Given the description of an element on the screen output the (x, y) to click on. 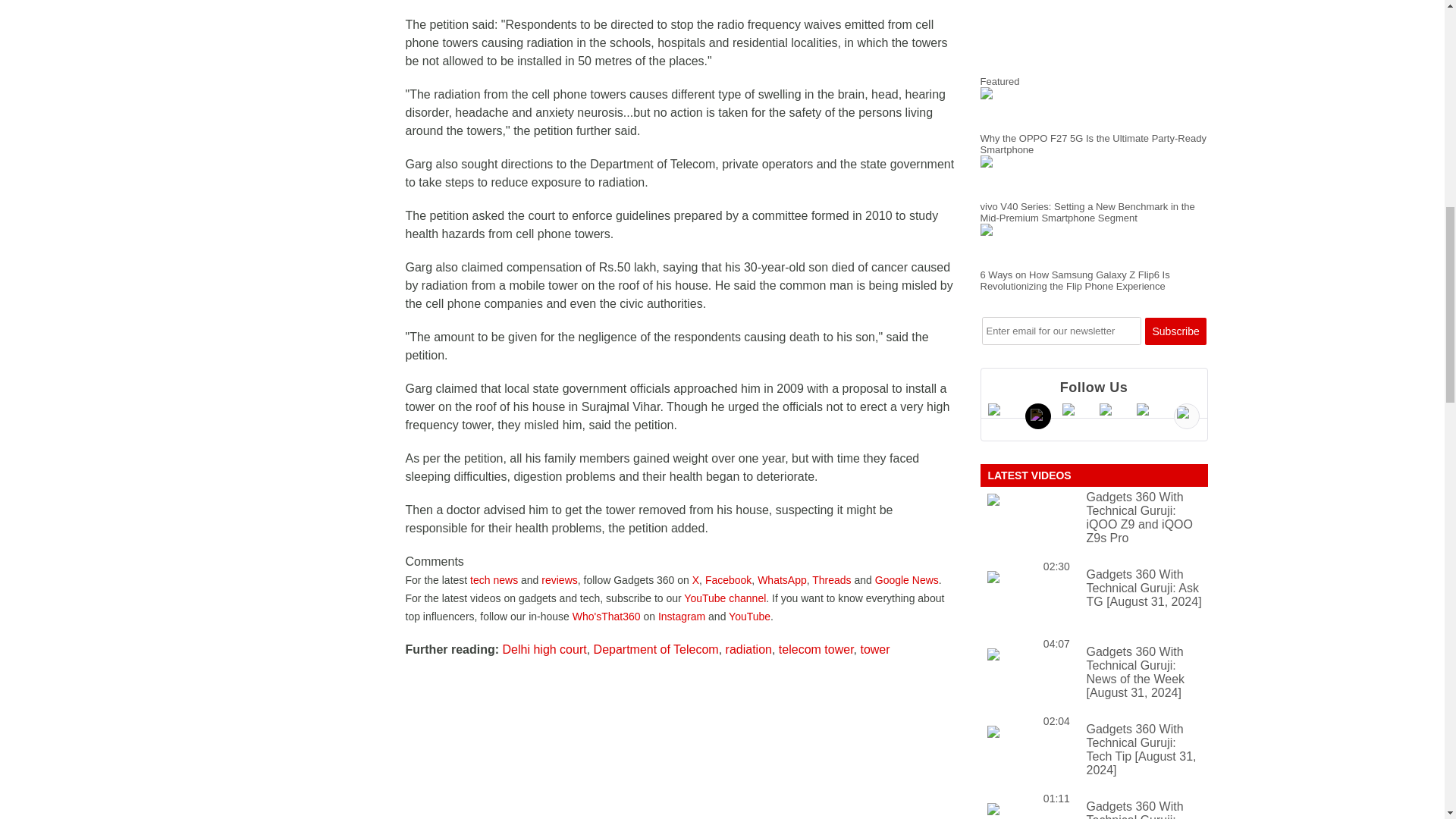
Facebook (727, 580)
WhatsApp (781, 580)
reviews (558, 580)
Department of Telecom (656, 649)
YouTube (749, 616)
Threads (831, 580)
Who'sThat360 (606, 616)
Delhi high court (544, 649)
YouTube channel (724, 598)
radiation (748, 649)
